Given the description of an element on the screen output the (x, y) to click on. 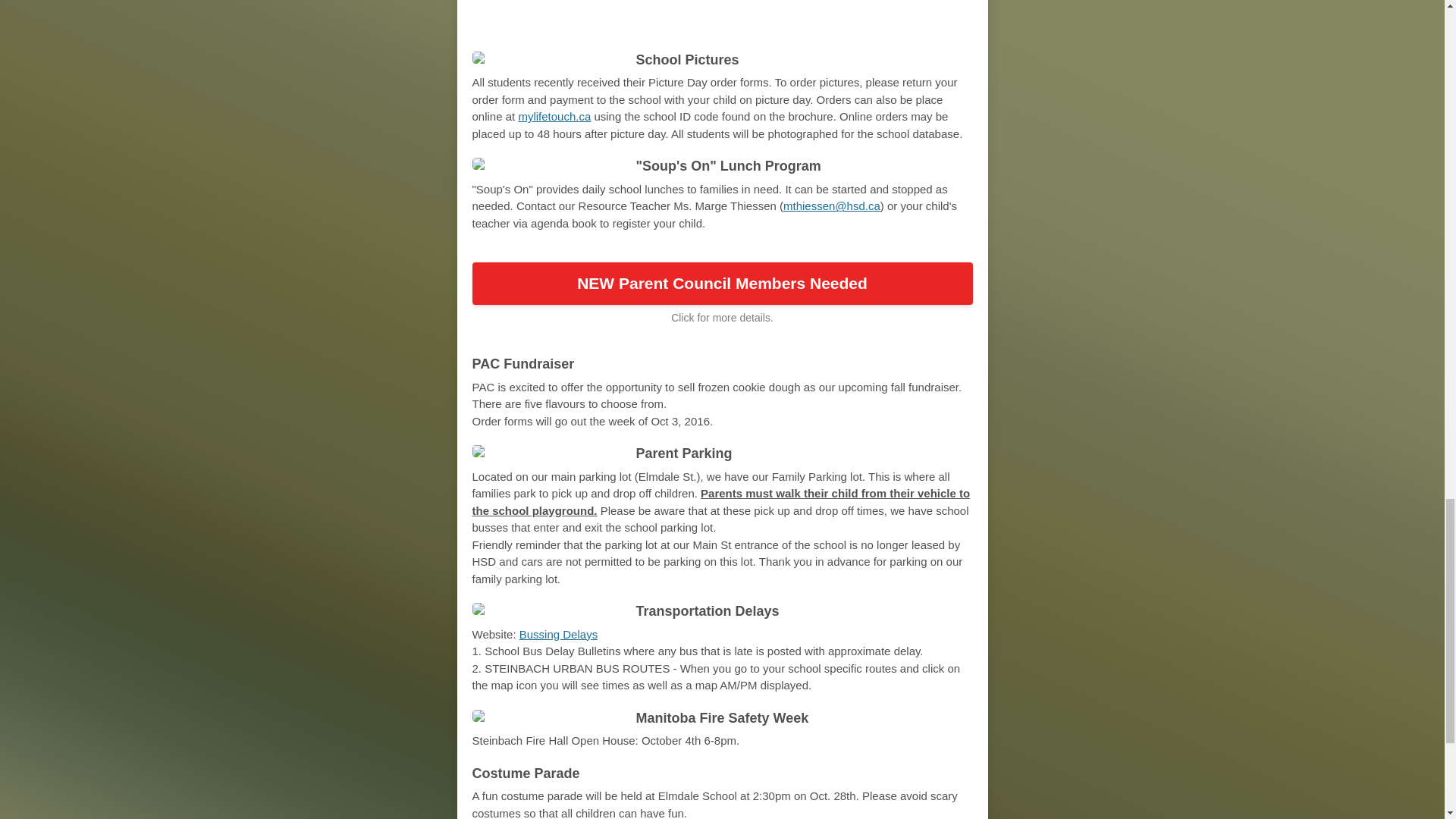
mylifetouch.ca (554, 115)
Bussing Delays (557, 634)
NEW Parent Council Members Needed (721, 283)
